Given the description of an element on the screen output the (x, y) to click on. 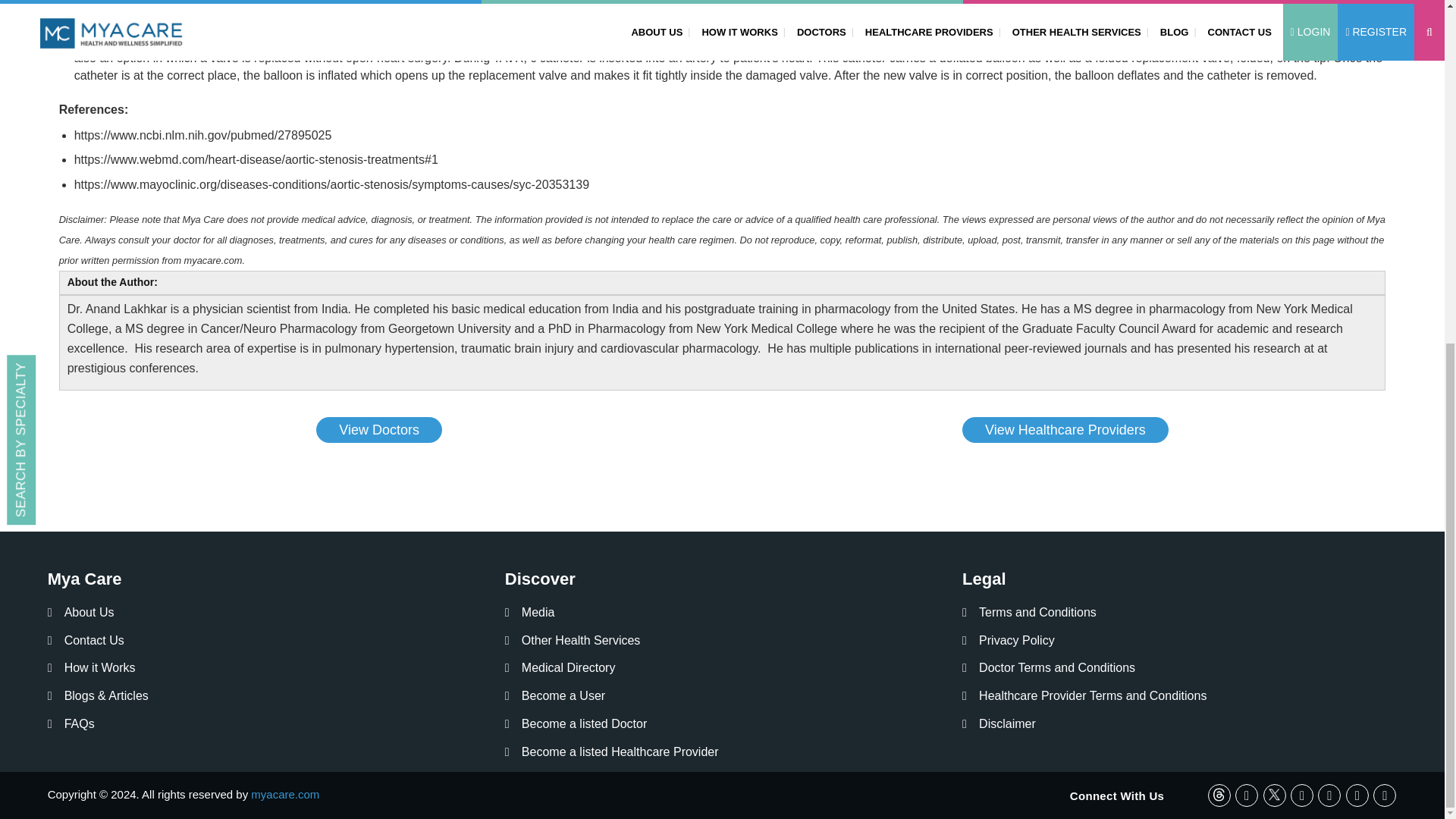
Contact Us (85, 641)
Terms and Conditions (1029, 612)
Privacy Policy (1008, 641)
Media (529, 612)
Disclaimer (998, 724)
Other Health Services (572, 641)
How it Works (91, 668)
myacare.com (284, 793)
About Us (81, 612)
FAQs (71, 724)
Healthcare Provider Terms and Conditions (1084, 696)
View Healthcare Providers (1065, 429)
Become a listed Healthcare Provider (612, 752)
Doctor Terms and Conditions (1048, 668)
View Doctors (378, 429)
